Given the description of an element on the screen output the (x, y) to click on. 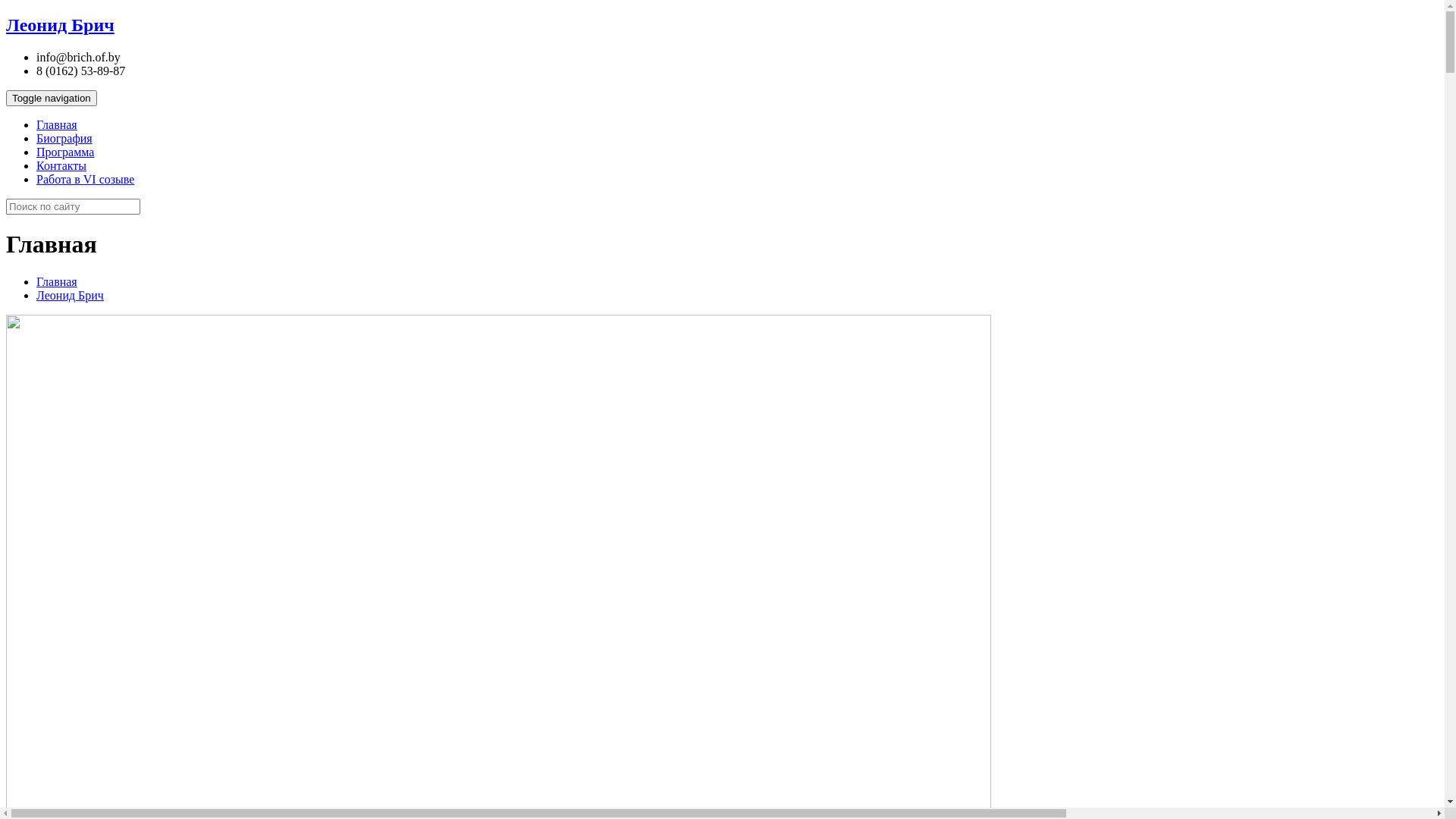
Toggle navigation Element type: text (51, 98)
